Given the description of an element on the screen output the (x, y) to click on. 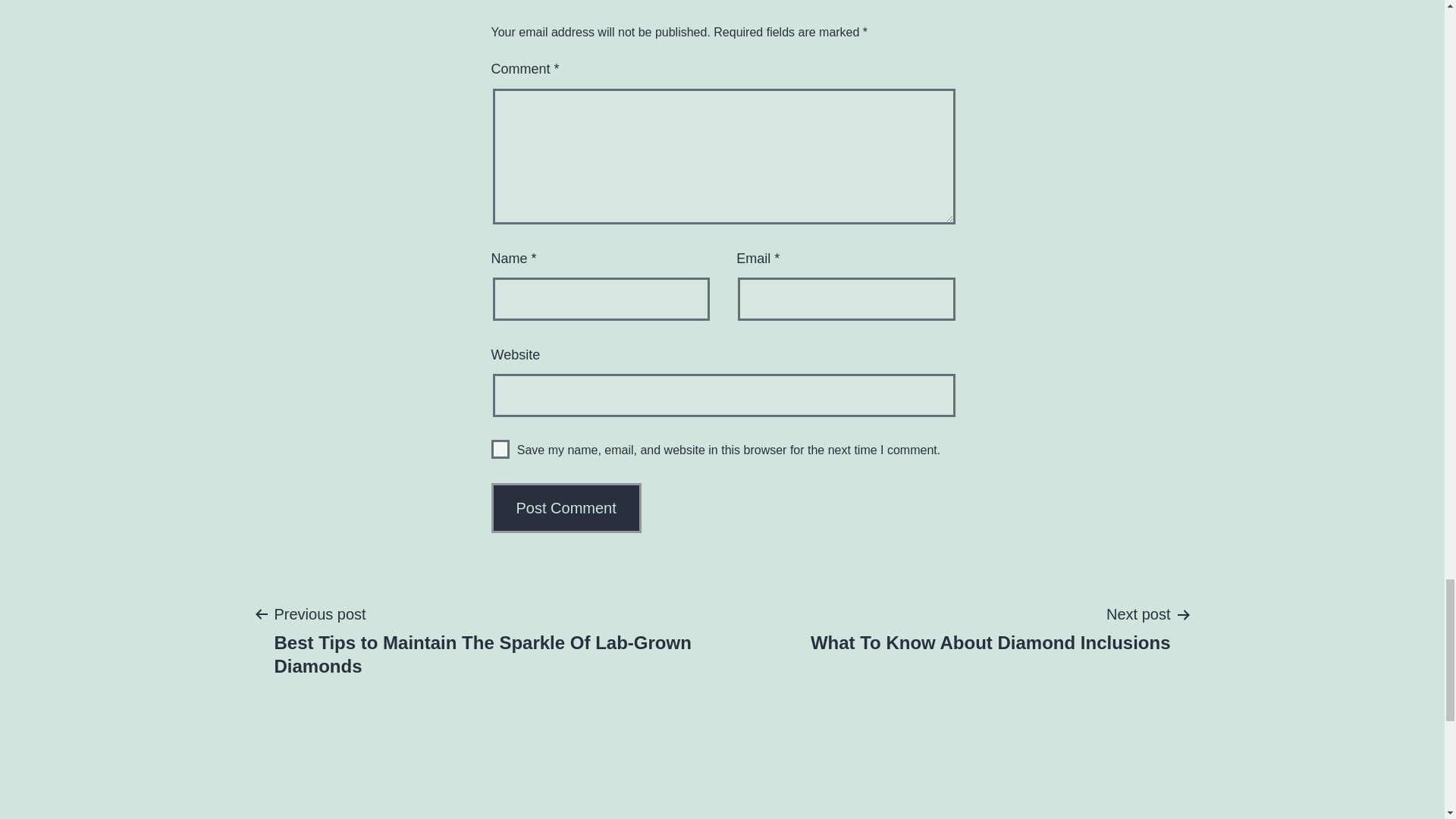
yes (990, 627)
Post Comment (500, 448)
Post Comment (567, 508)
